Given the description of an element on the screen output the (x, y) to click on. 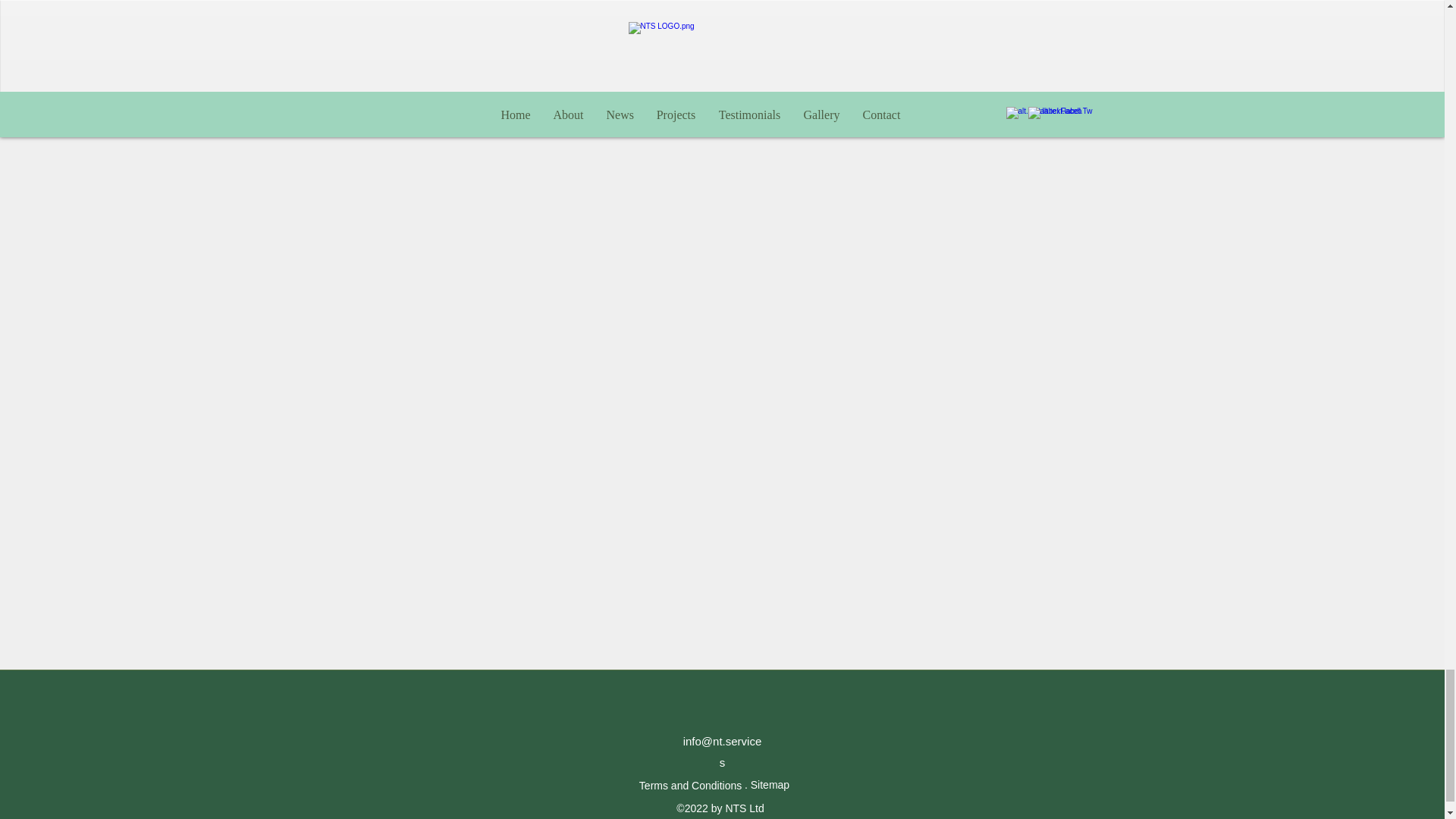
Terms and Conditions  (691, 785)
. Sitemap  (768, 784)
